Given the description of an element on the screen output the (x, y) to click on. 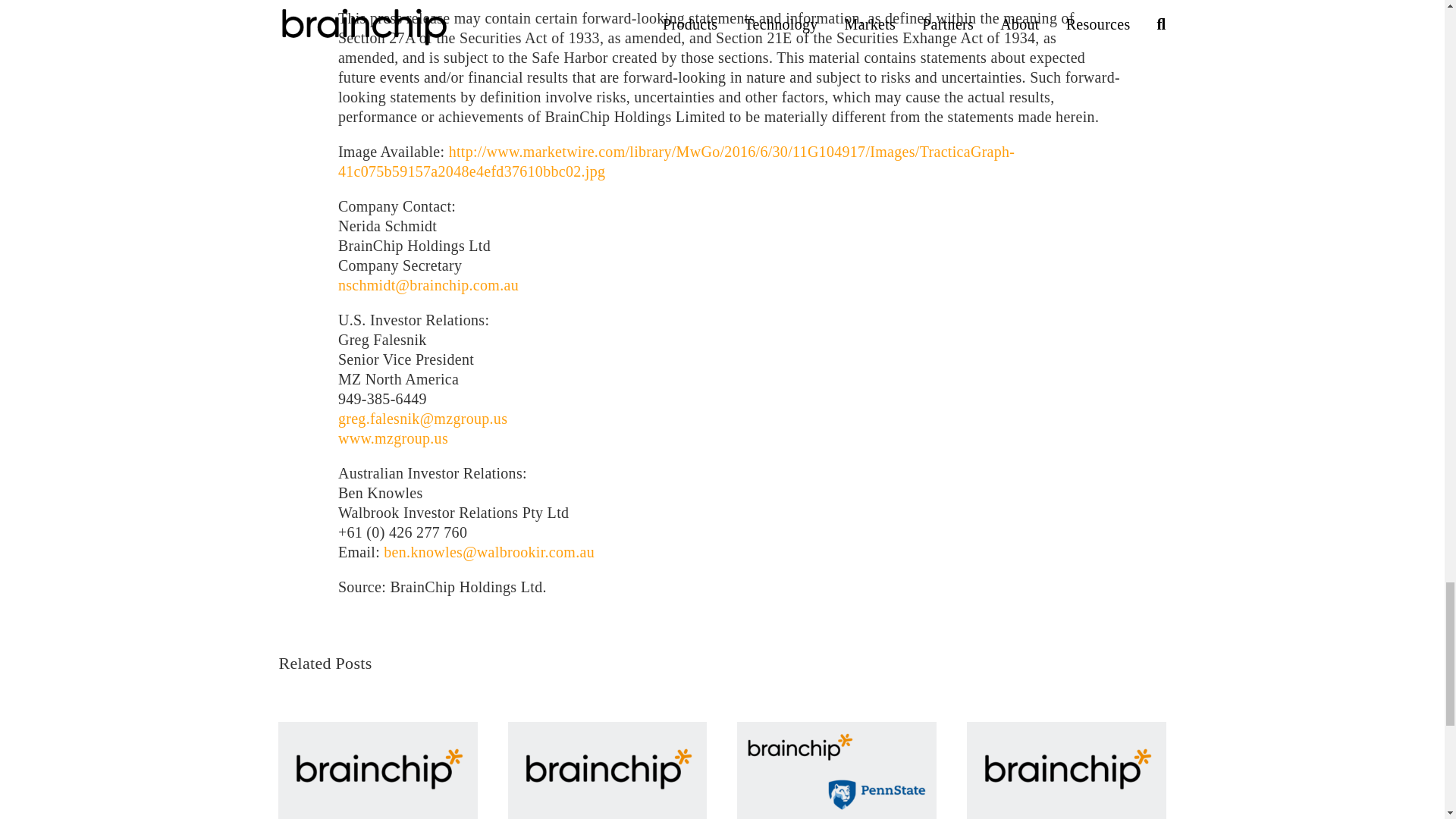
BrainChip Introduces TENNs-PLEIADES in New White Paper (377, 770)
